Given the description of an element on the screen output the (x, y) to click on. 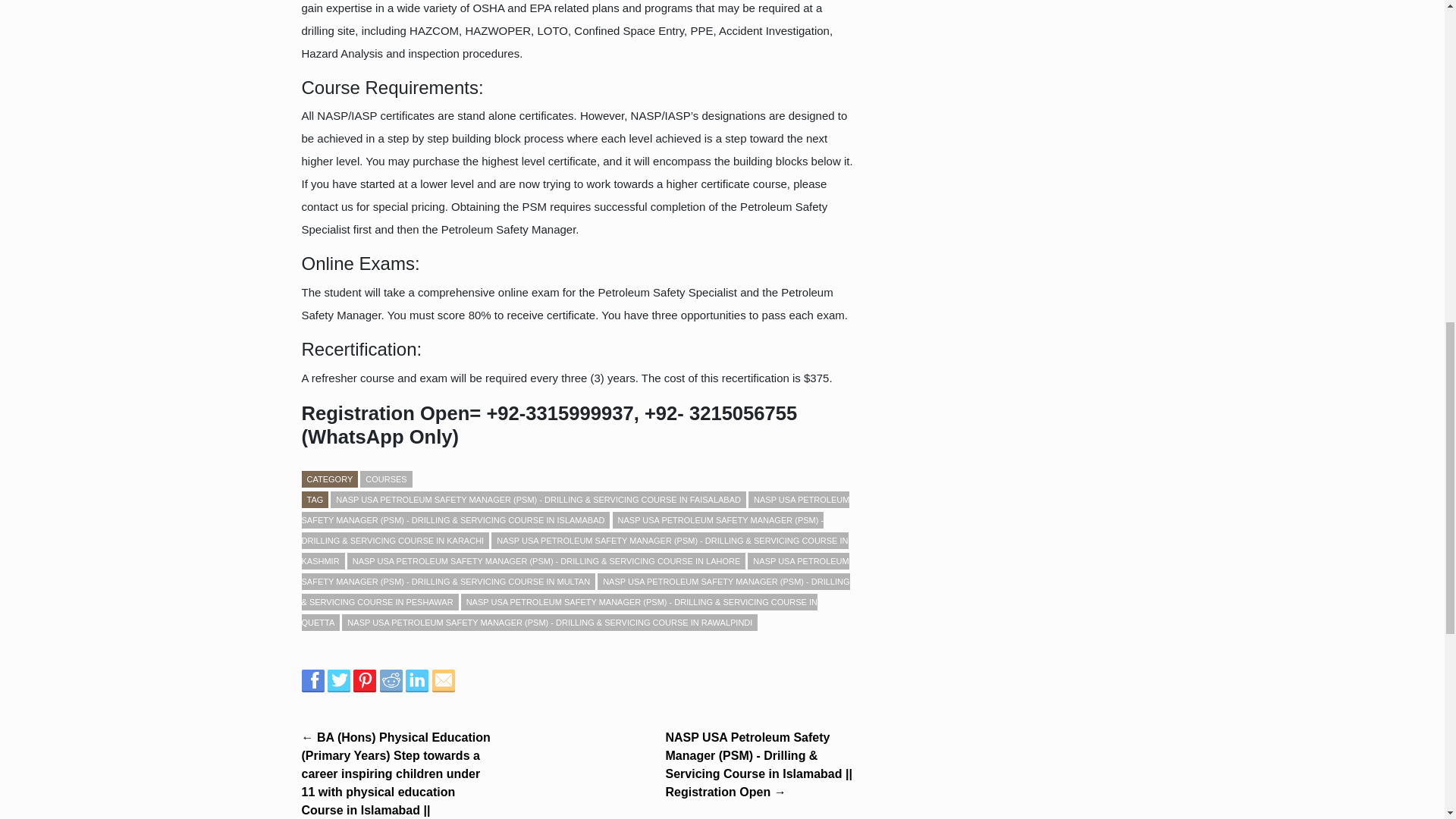
COURSES (385, 478)
